Given the description of an element on the screen output the (x, y) to click on. 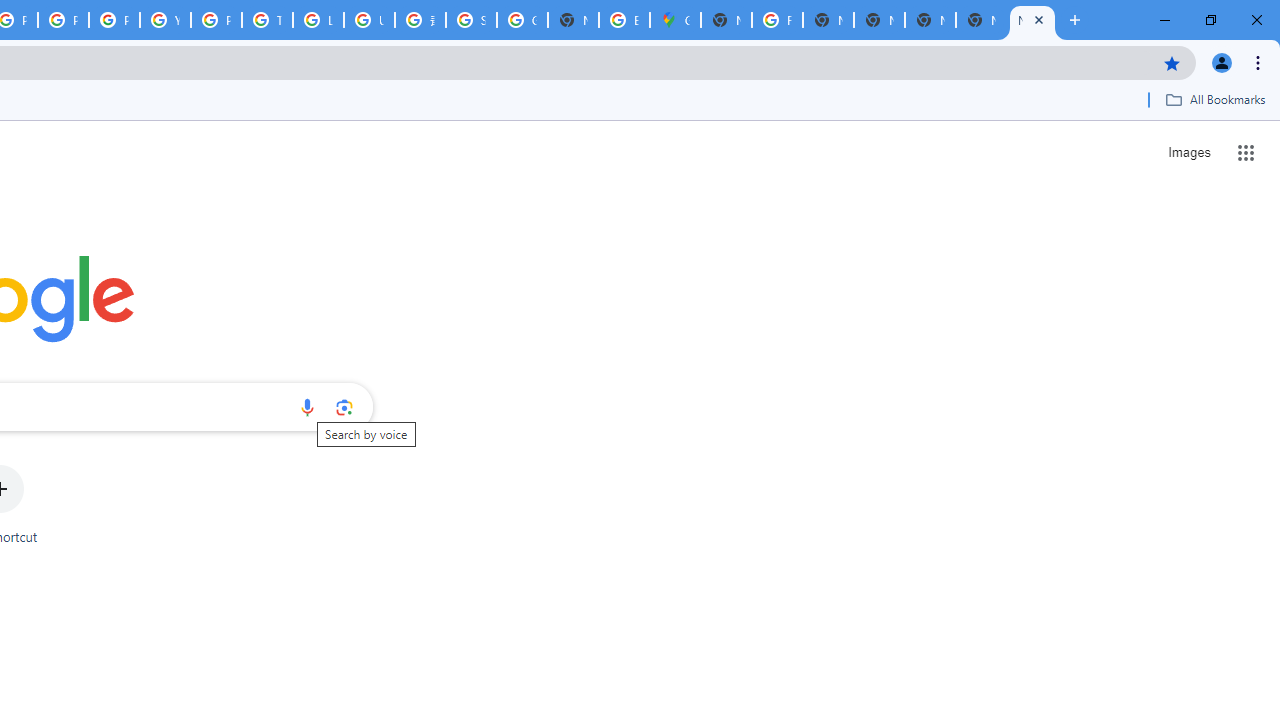
New Tab (726, 20)
Tips & tricks for Chrome - Google Chrome Help (267, 20)
Sign in - Google Accounts (470, 20)
